Given the description of an element on the screen output the (x, y) to click on. 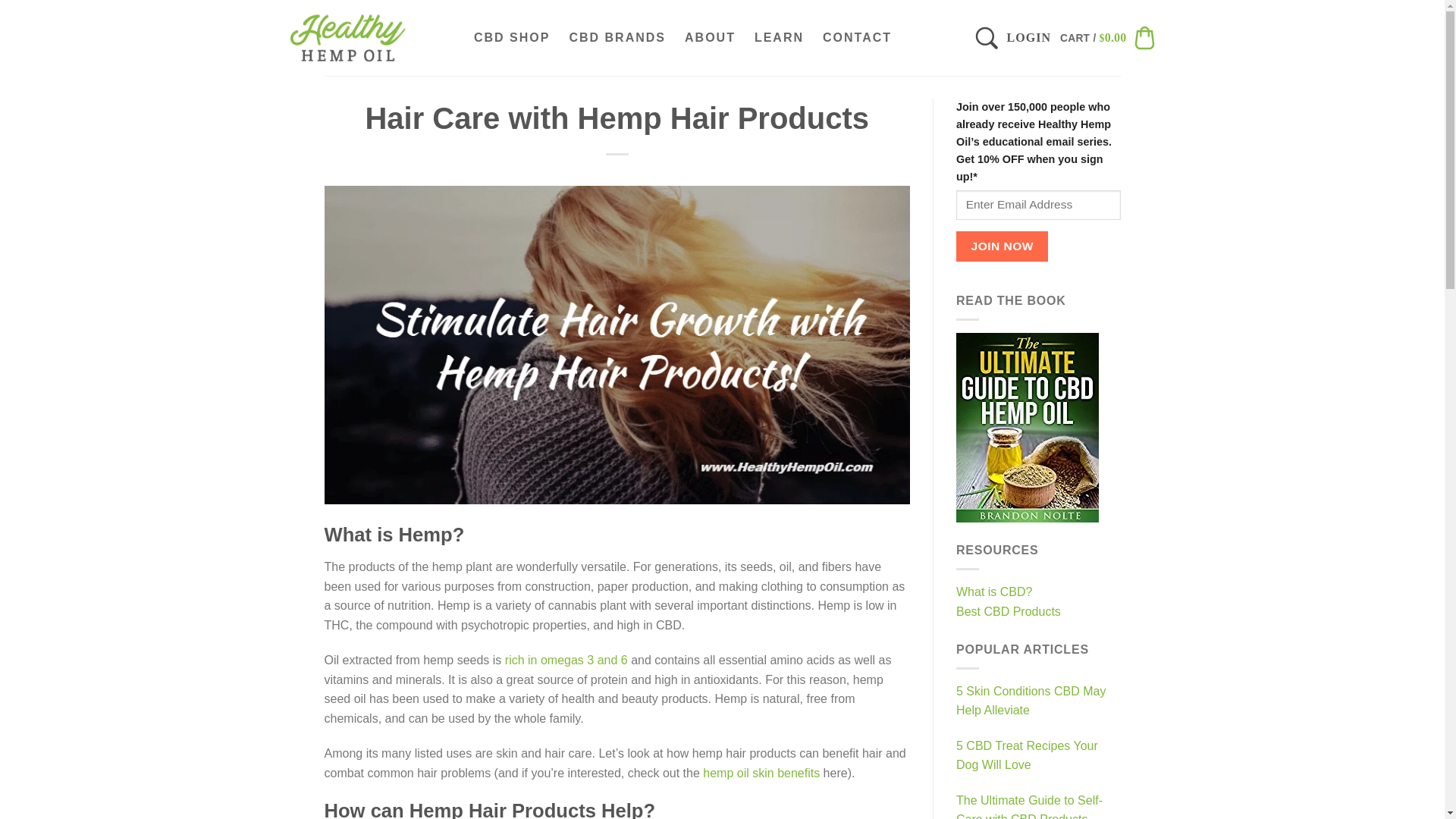
ABOUT (710, 37)
CONTACT (856, 37)
CBD BRANDS (616, 37)
Cart (1106, 37)
CBD SHOP (511, 37)
LEARN (779, 37)
